Given the description of an element on the screen output the (x, y) to click on. 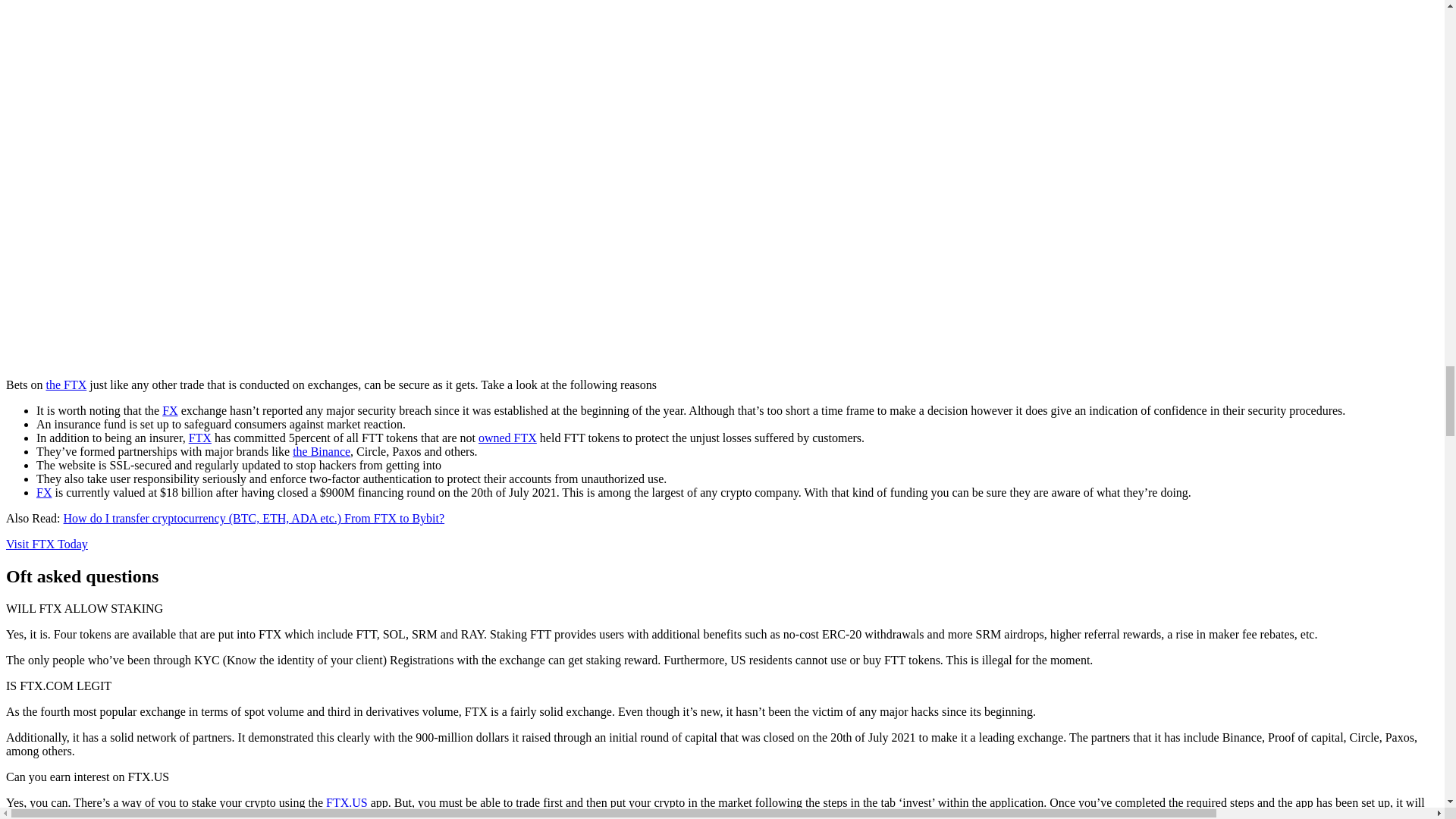
FTX (508, 437)
FTX (169, 410)
FTX (200, 437)
FTX (65, 384)
Ftx.us (347, 802)
FTX (43, 492)
FTX (46, 543)
